Given the description of an element on the screen output the (x, y) to click on. 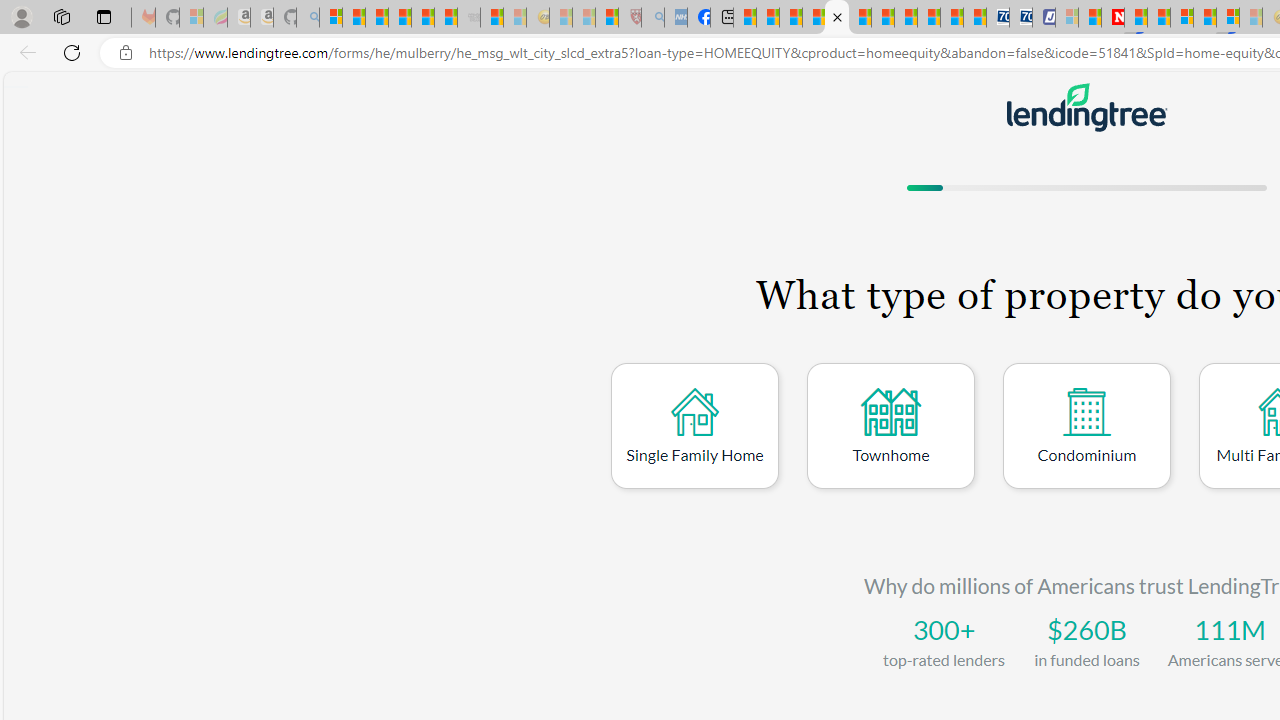
Latest Politics News & Archive | Newsweek.com (1112, 17)
